Given the description of an element on the screen output the (x, y) to click on. 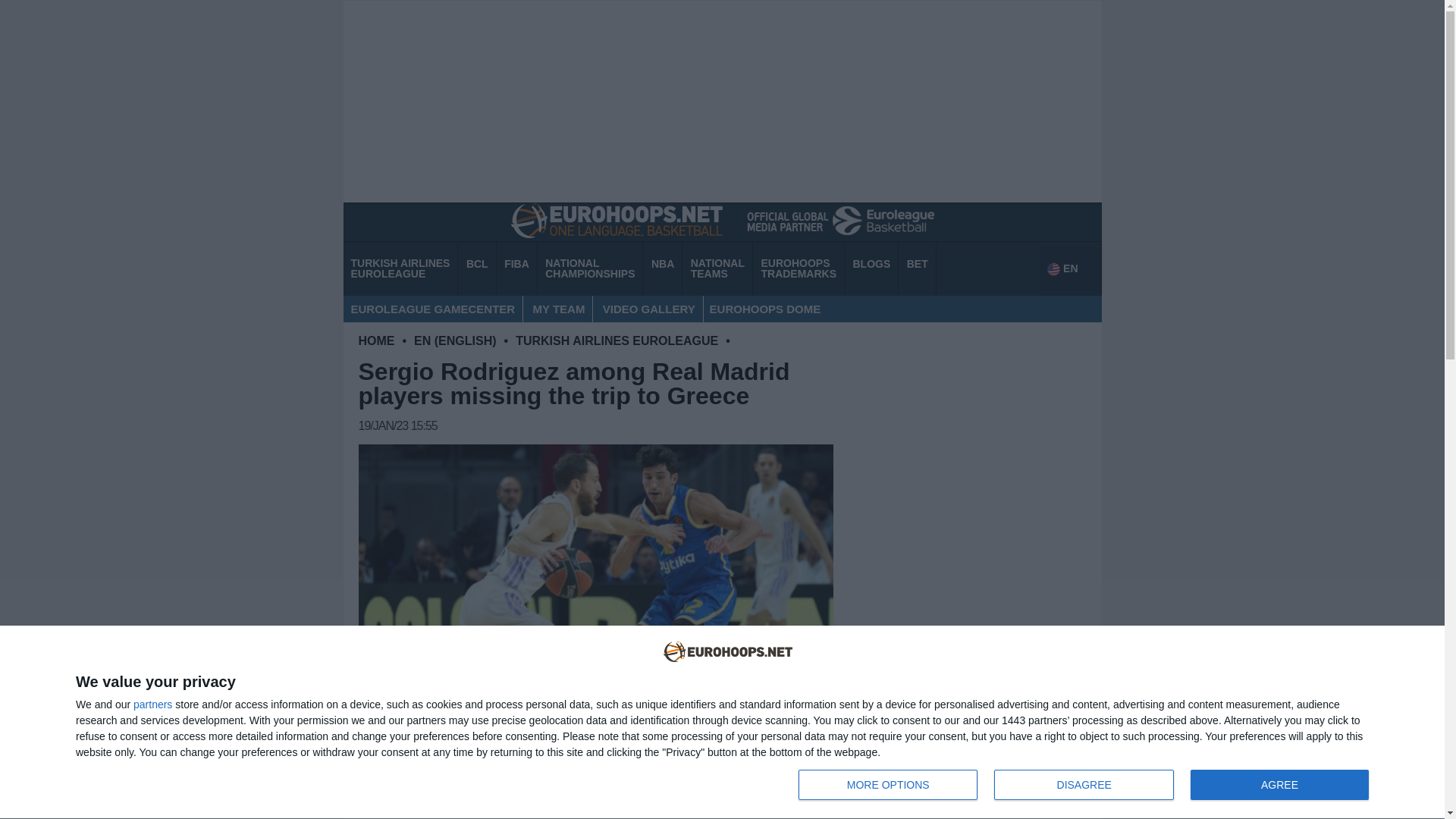
DISAGREE (1086, 785)
HOME (1083, 784)
BLOGS (717, 268)
partners (590, 268)
AGREE (376, 341)
MORE OPTIONS (798, 268)
